Given the description of an element on the screen output the (x, y) to click on. 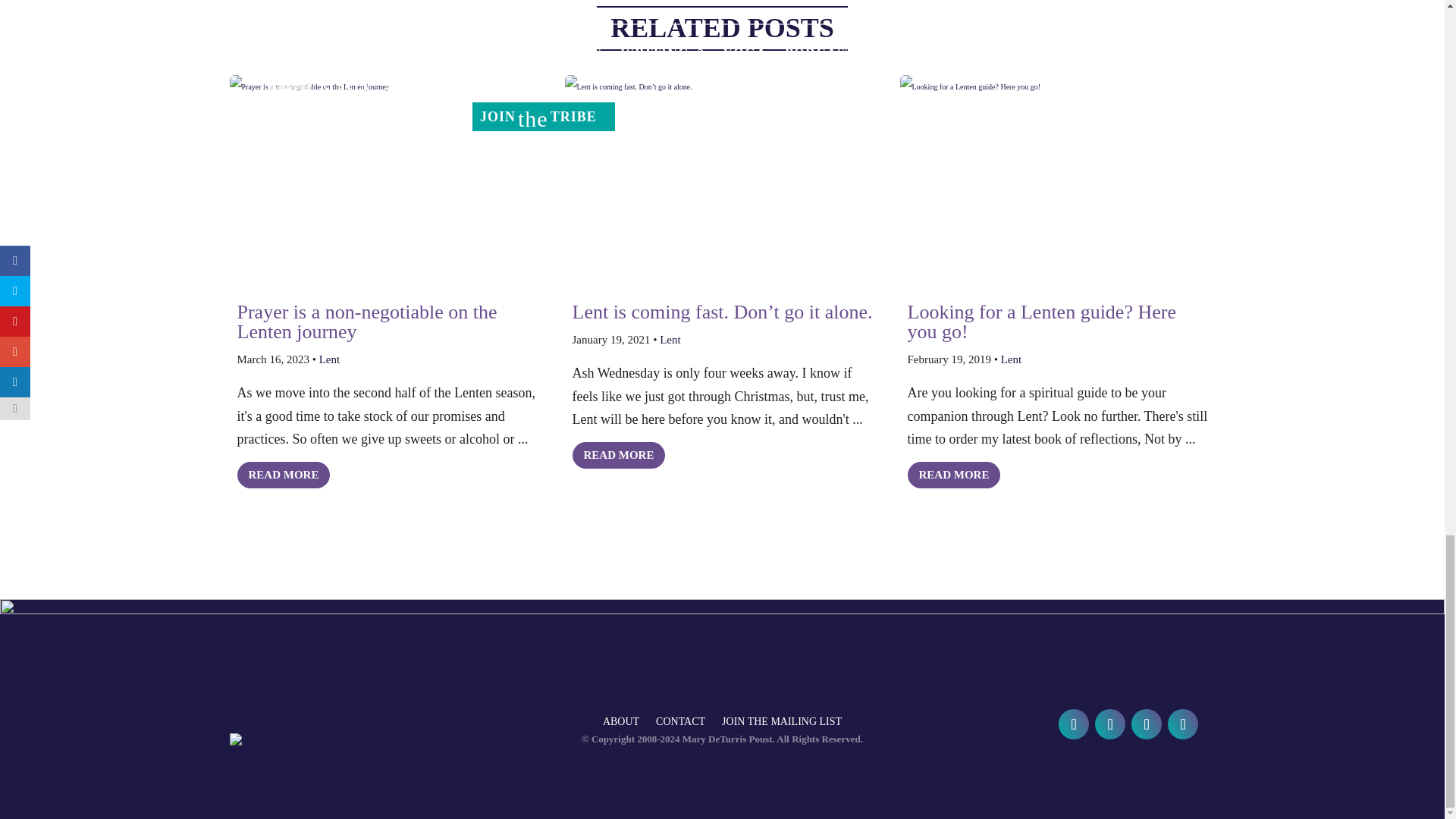
NotStrictlySpiritual-logo-web-white (309, 739)
Follow on TikTok (1182, 724)
Follow on Facebook (1073, 724)
Follow on X (1109, 724)
Follow on Instagram (1146, 724)
